Given the description of an element on the screen output the (x, y) to click on. 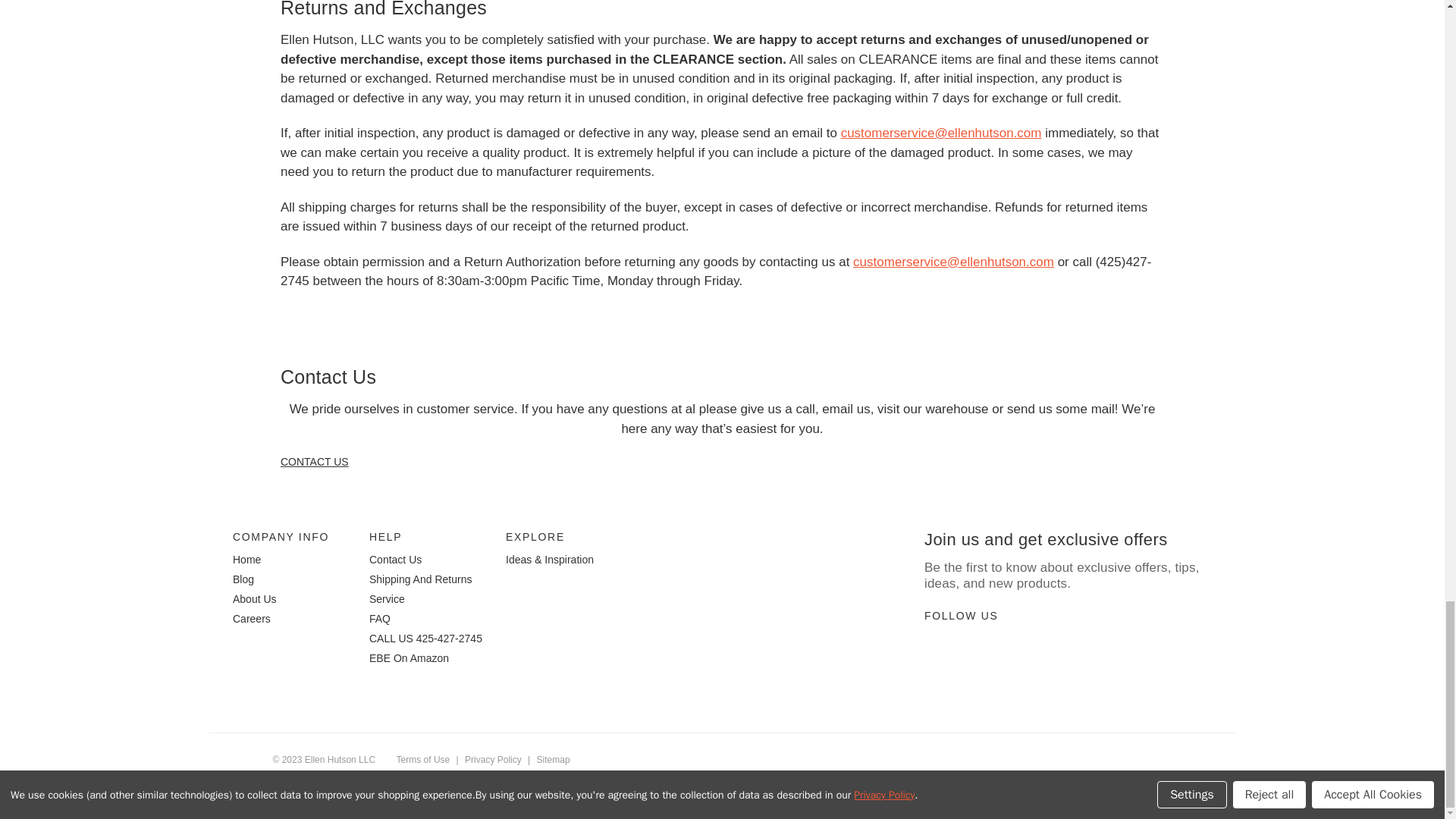
Pinterest (960, 650)
Youtube (932, 650)
Instagram (1014, 650)
CONTACT US (315, 461)
Facebook (986, 650)
